Given the description of an element on the screen output the (x, y) to click on. 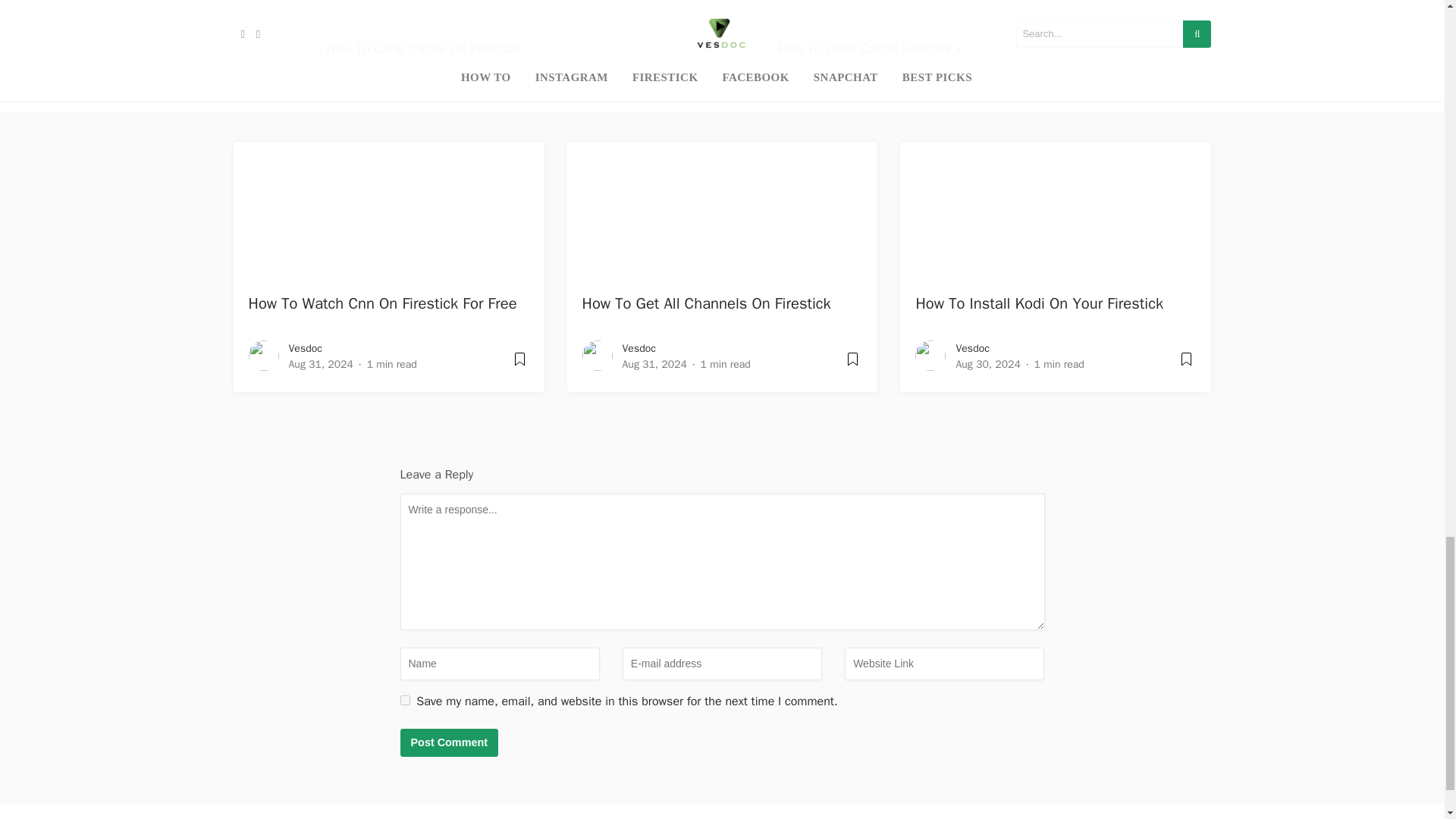
How To Clear Cache On Firestick (422, 48)
Vesdoc (304, 348)
How To Watch Cnn On Firestick For Free (382, 302)
Post Comment (449, 742)
How To Clear Cache Firestick (864, 48)
yes (405, 700)
